Given the description of an element on the screen output the (x, y) to click on. 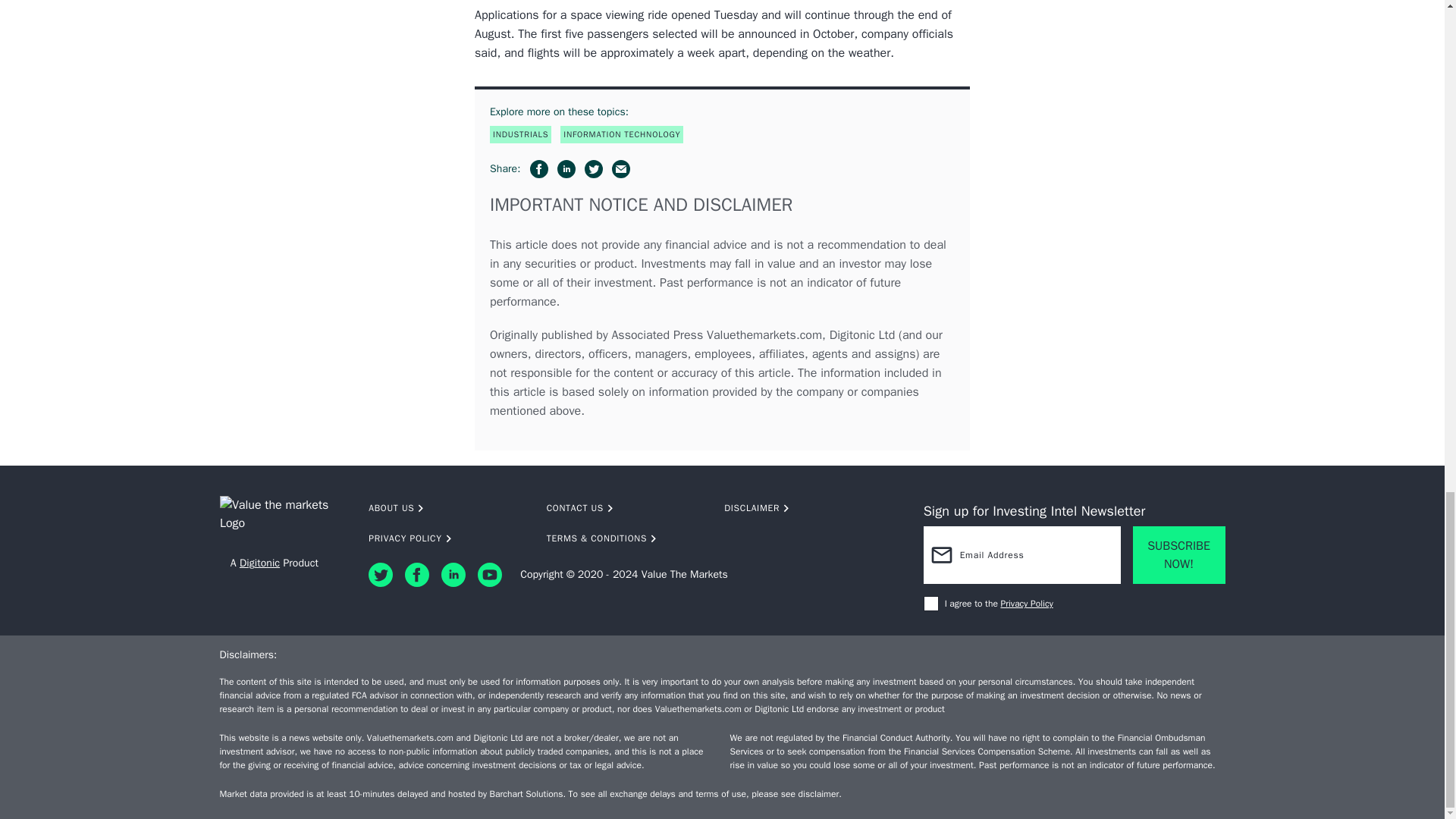
Yes (931, 603)
